Given the description of an element on the screen output the (x, y) to click on. 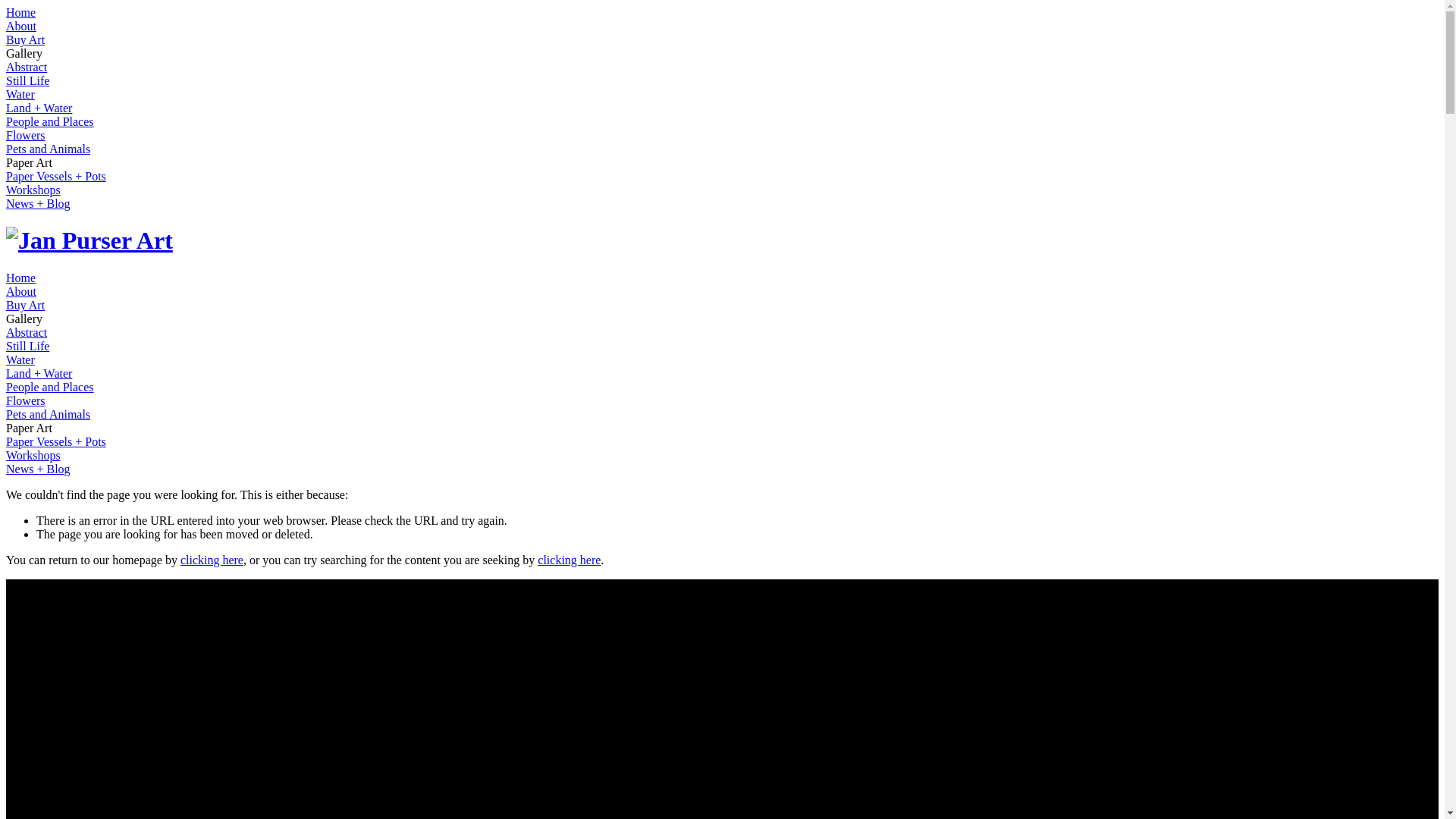
Flowers Element type: text (25, 134)
Abstract Element type: text (26, 332)
News + Blog Element type: text (38, 468)
Buy Art Element type: text (25, 39)
clicking here Element type: text (568, 559)
Still Life Element type: text (27, 80)
Home Element type: text (20, 277)
clicking here Element type: text (211, 559)
Buy Art Element type: text (25, 304)
About Element type: text (21, 291)
Abstract Element type: text (26, 66)
Flowers Element type: text (25, 400)
Paper Vessels + Pots Element type: text (56, 175)
Still Life Element type: text (27, 345)
About Element type: text (21, 25)
Workshops Element type: text (33, 454)
Home Element type: text (20, 12)
Pets and Animals Element type: text (48, 413)
Paper Vessels + Pots Element type: text (56, 441)
Workshops Element type: text (33, 189)
Land + Water Element type: text (39, 107)
People and Places Element type: text (50, 121)
Water Element type: text (20, 359)
News + Blog Element type: text (38, 203)
Pets and Animals Element type: text (48, 148)
Water Element type: text (20, 93)
People and Places Element type: text (50, 386)
Land + Water Element type: text (39, 373)
